Given the description of an element on the screen output the (x, y) to click on. 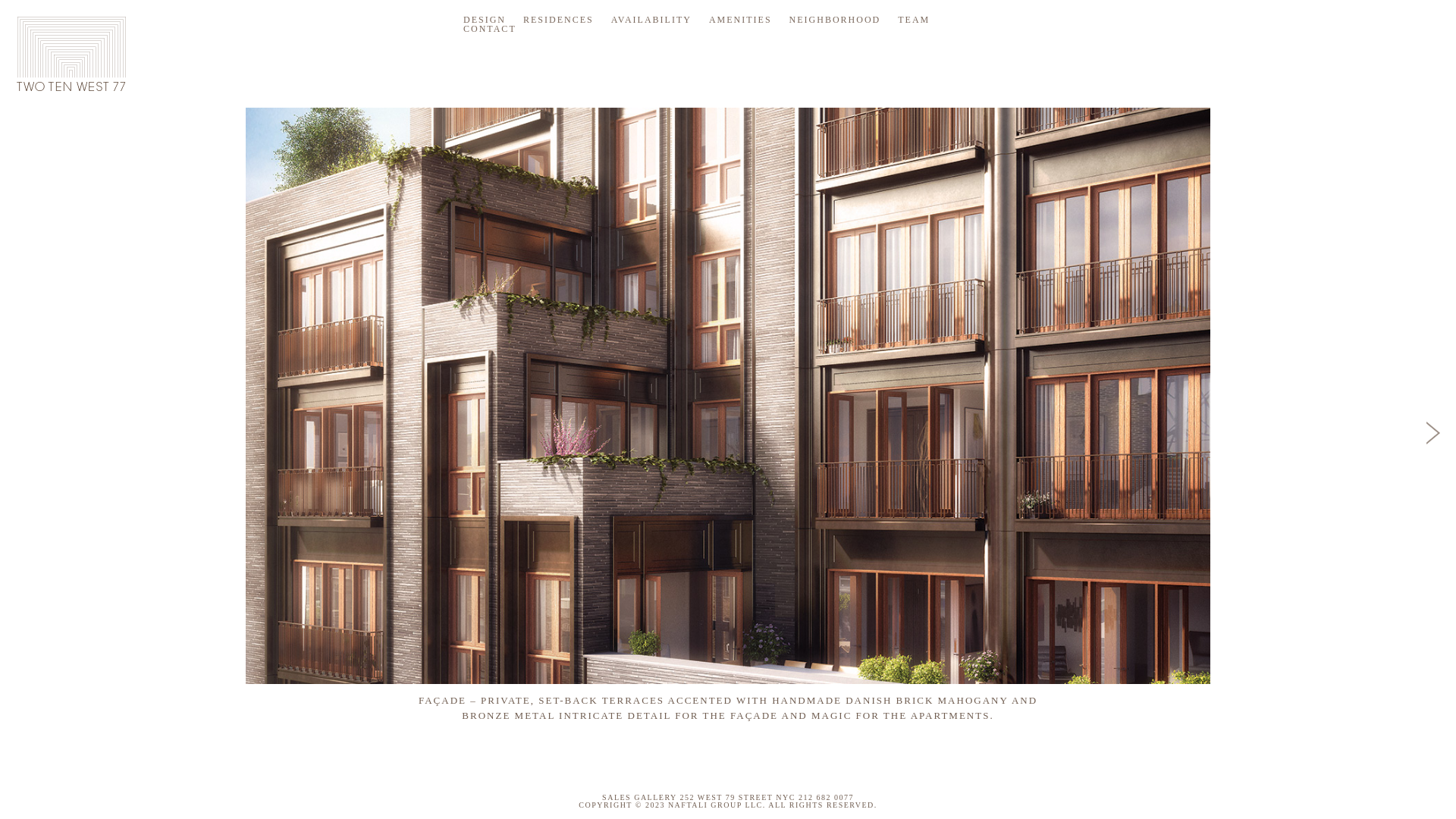
AMENITIES Element type: text (740, 19)
RESIDENCES Element type: text (558, 19)
Next Element type: text (1432, 433)
NEIGHBORHOOD Element type: text (835, 19)
DESIGN Element type: text (484, 19)
CONTACT Element type: text (489, 28)
AVAILABILITY Element type: text (651, 19)
TEAM Element type: text (913, 19)
